Given the description of an element on the screen output the (x, y) to click on. 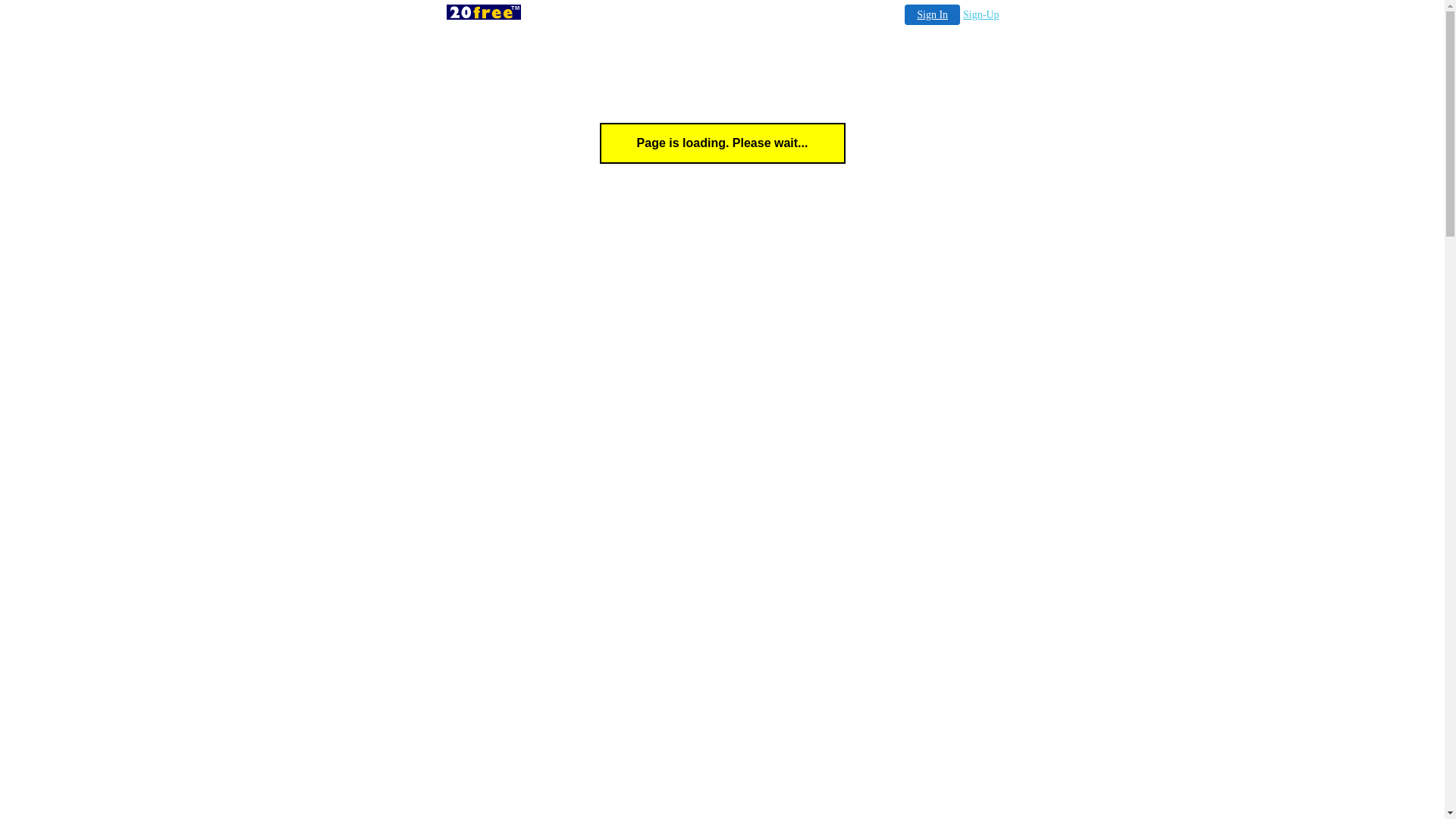
Sign-Up Element type: text (980, 14)
Sign In Element type: text (932, 14)
